Given the description of an element on the screen output the (x, y) to click on. 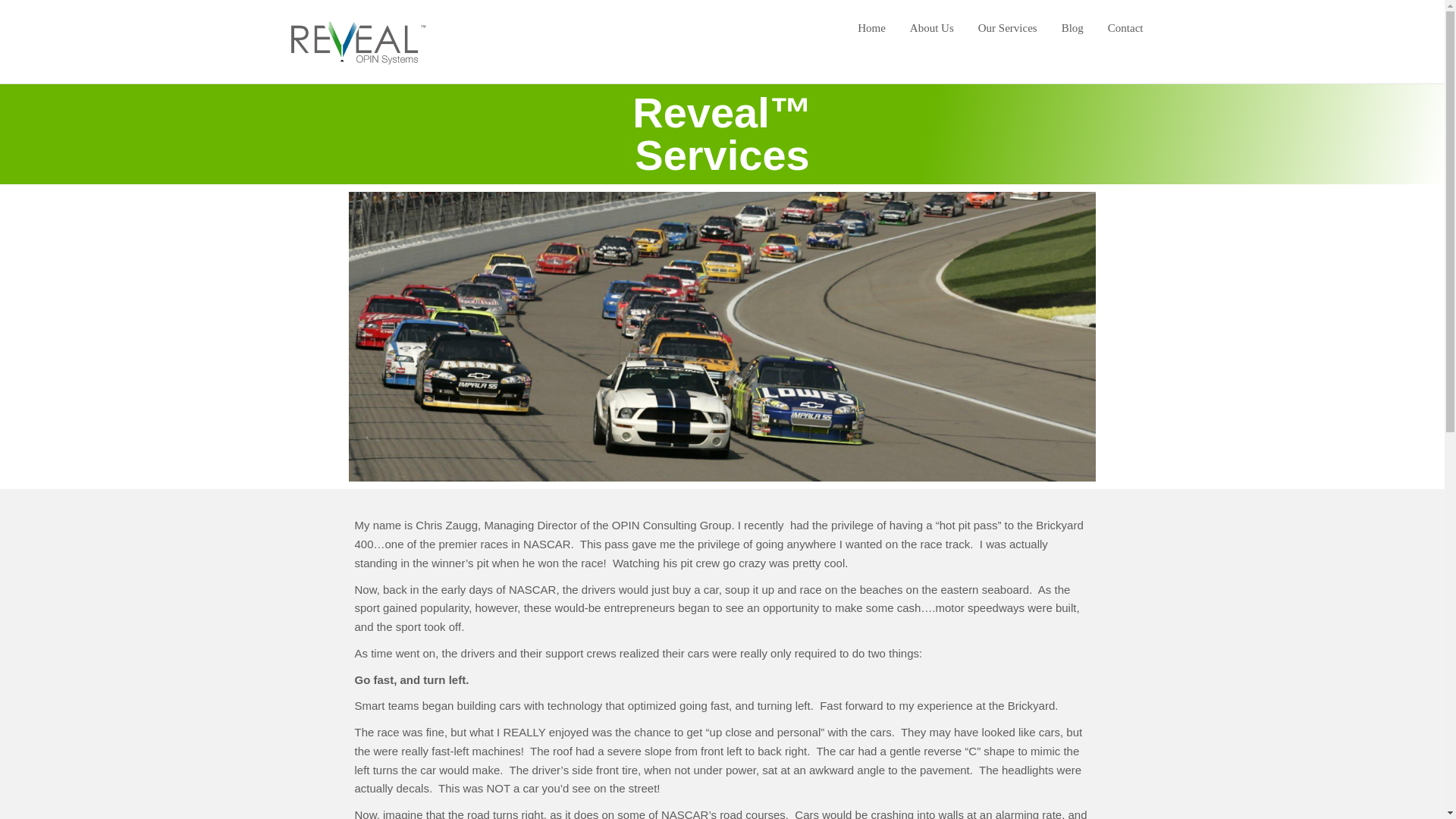
Contact (1125, 27)
About Us (931, 27)
Our Services (1007, 27)
